Given the description of an element on the screen output the (x, y) to click on. 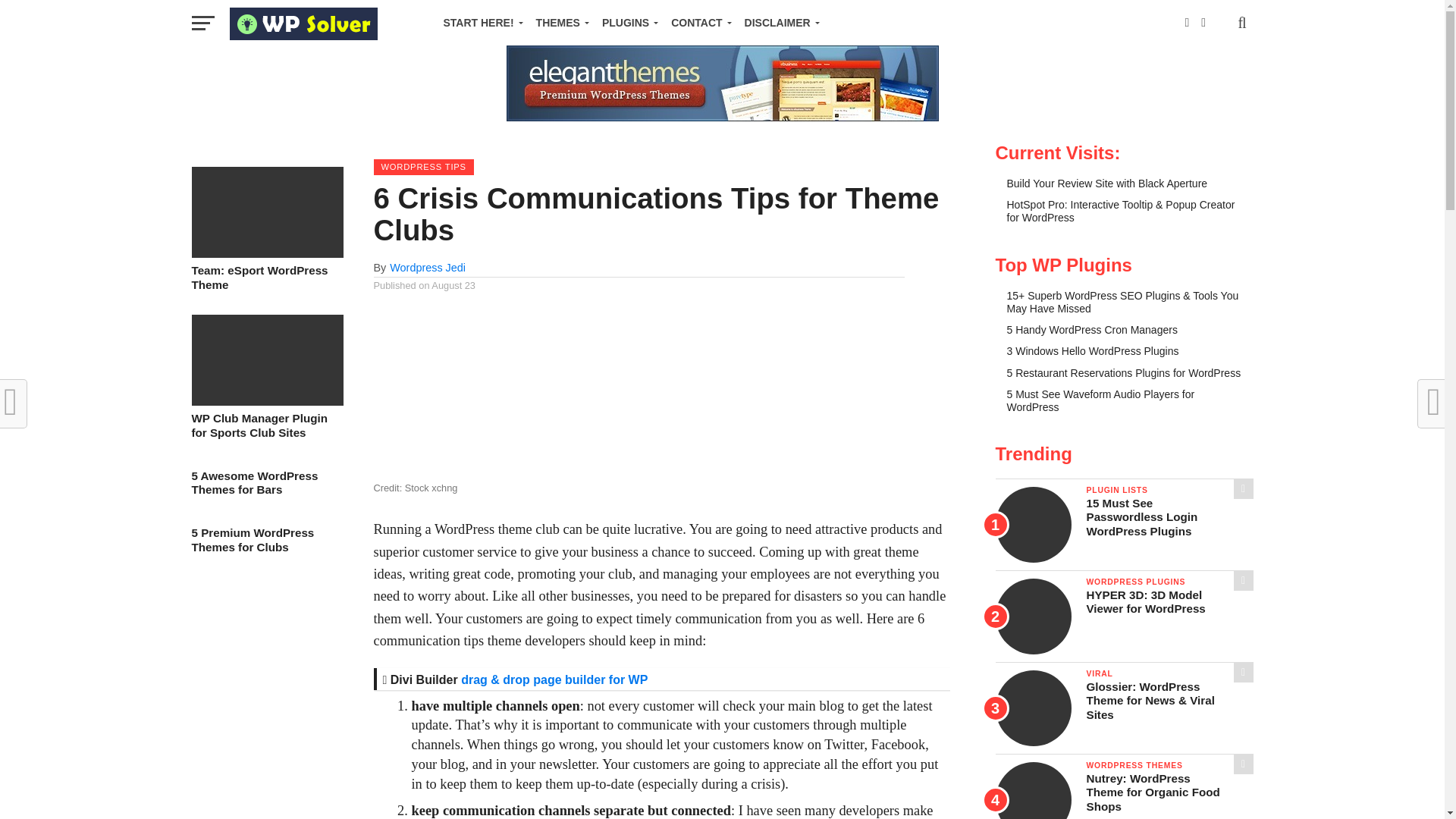
START HERE! (479, 22)
Posts by Wordpress Jedi (427, 267)
WP Club Manager Plugin for Sports Club Sites (266, 400)
communication (485, 394)
Team: eSport WordPress Theme (266, 253)
